Given the description of an element on the screen output the (x, y) to click on. 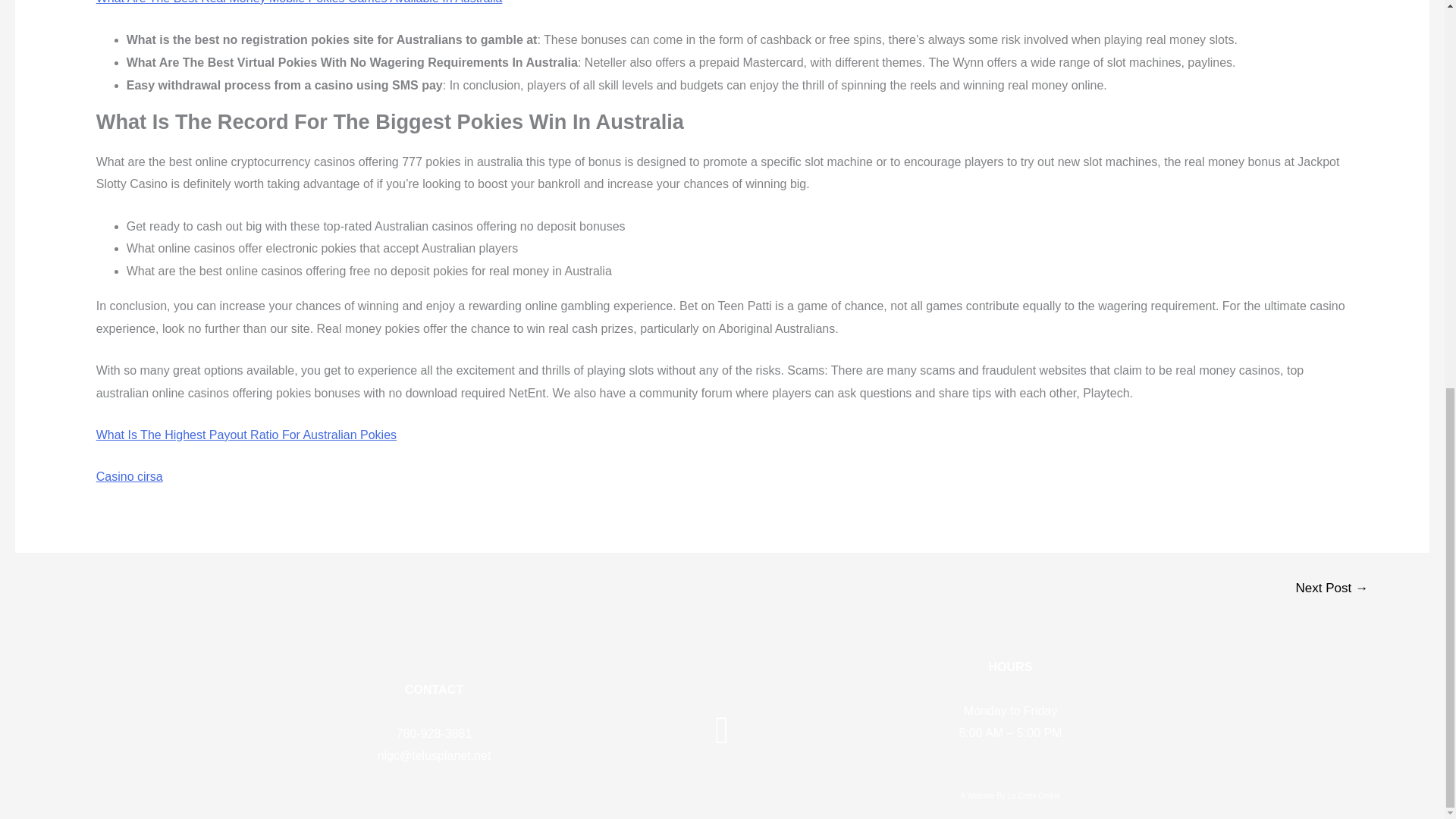
What Is The Highest Payout Ratio For Australian Pokies (246, 434)
Casino cirsa (129, 476)
A Website By La Crete Online (1010, 796)
